Given the description of an element on the screen output the (x, y) to click on. 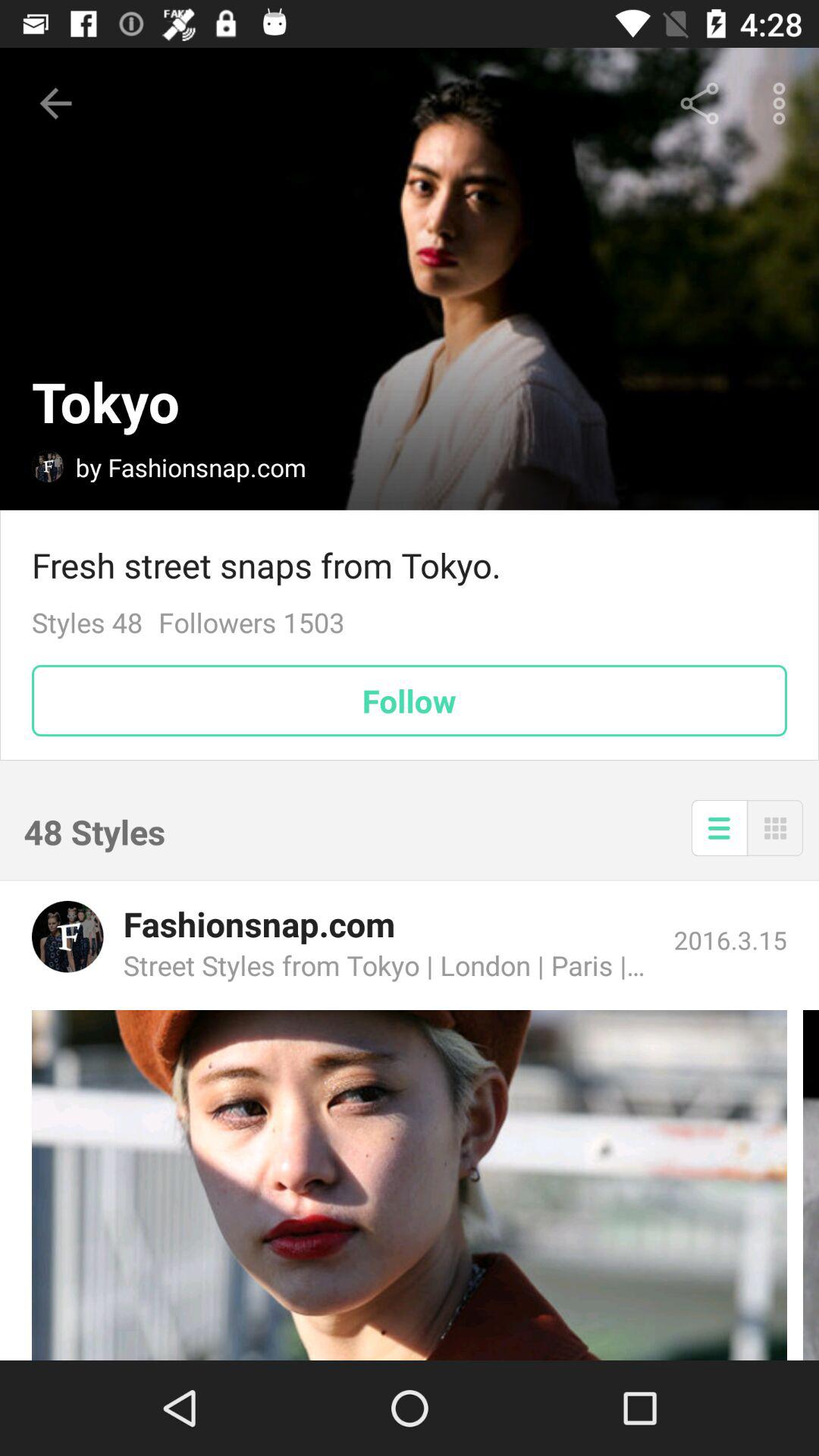
go to user profile page (47, 466)
